Given the description of an element on the screen output the (x, y) to click on. 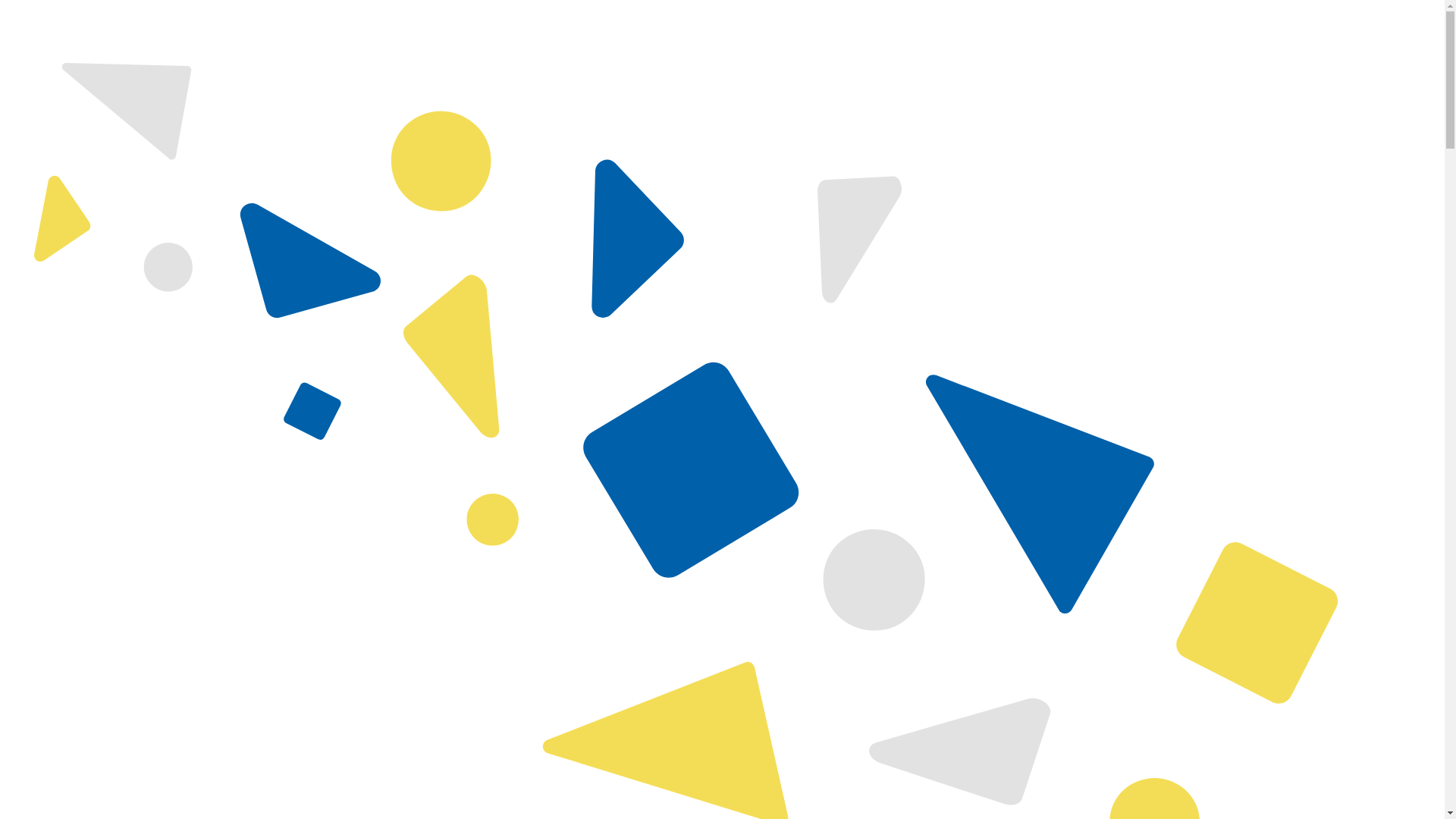
Naar de inhoud Element type: text (6, 6)
